Given the description of an element on the screen output the (x, y) to click on. 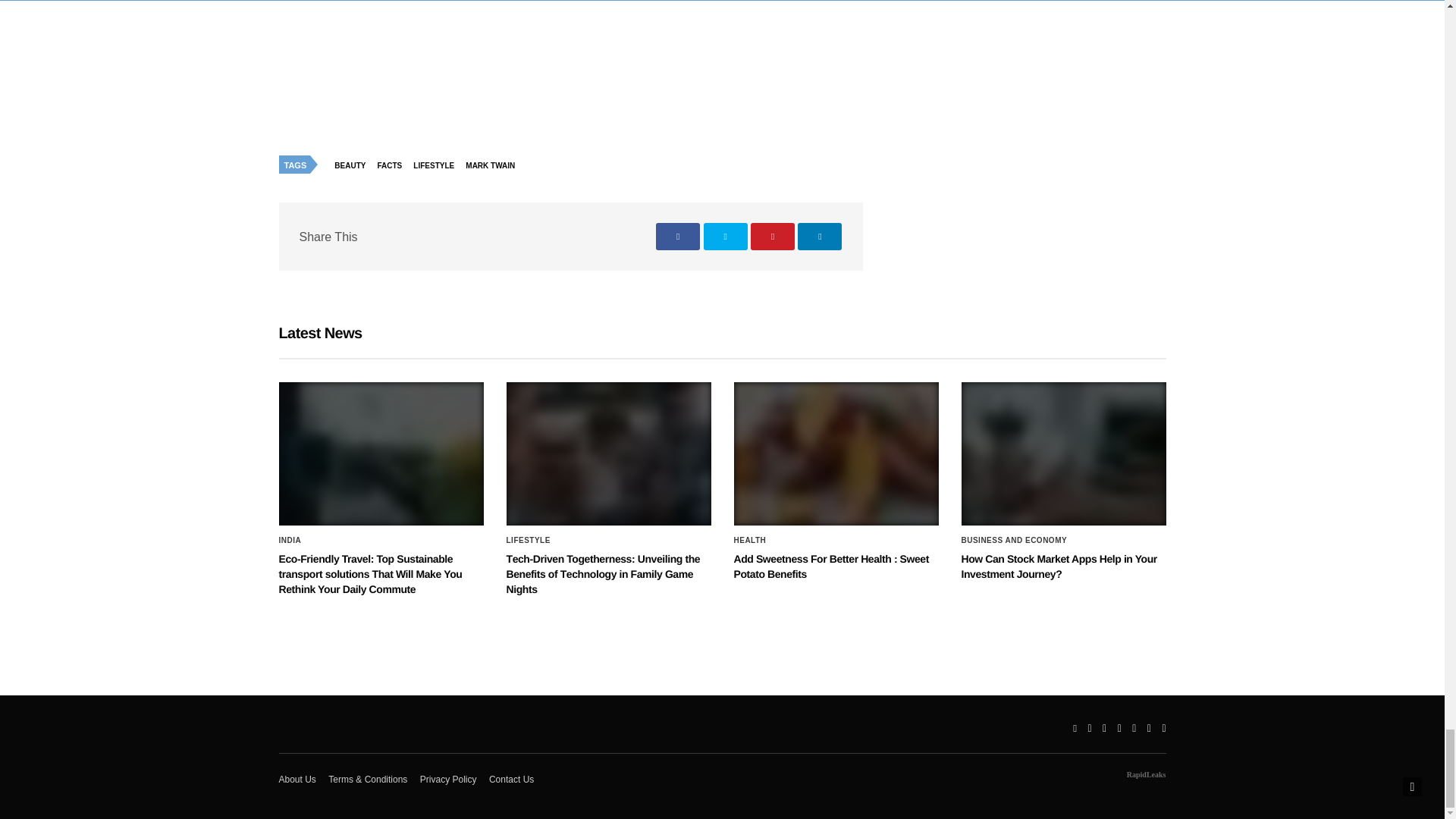
Lifestyle (528, 540)
Add Sweetness For Better Health : Sweet Potato Benefits (836, 453)
India (290, 540)
Health (750, 540)
